Given the description of an element on the screen output the (x, y) to click on. 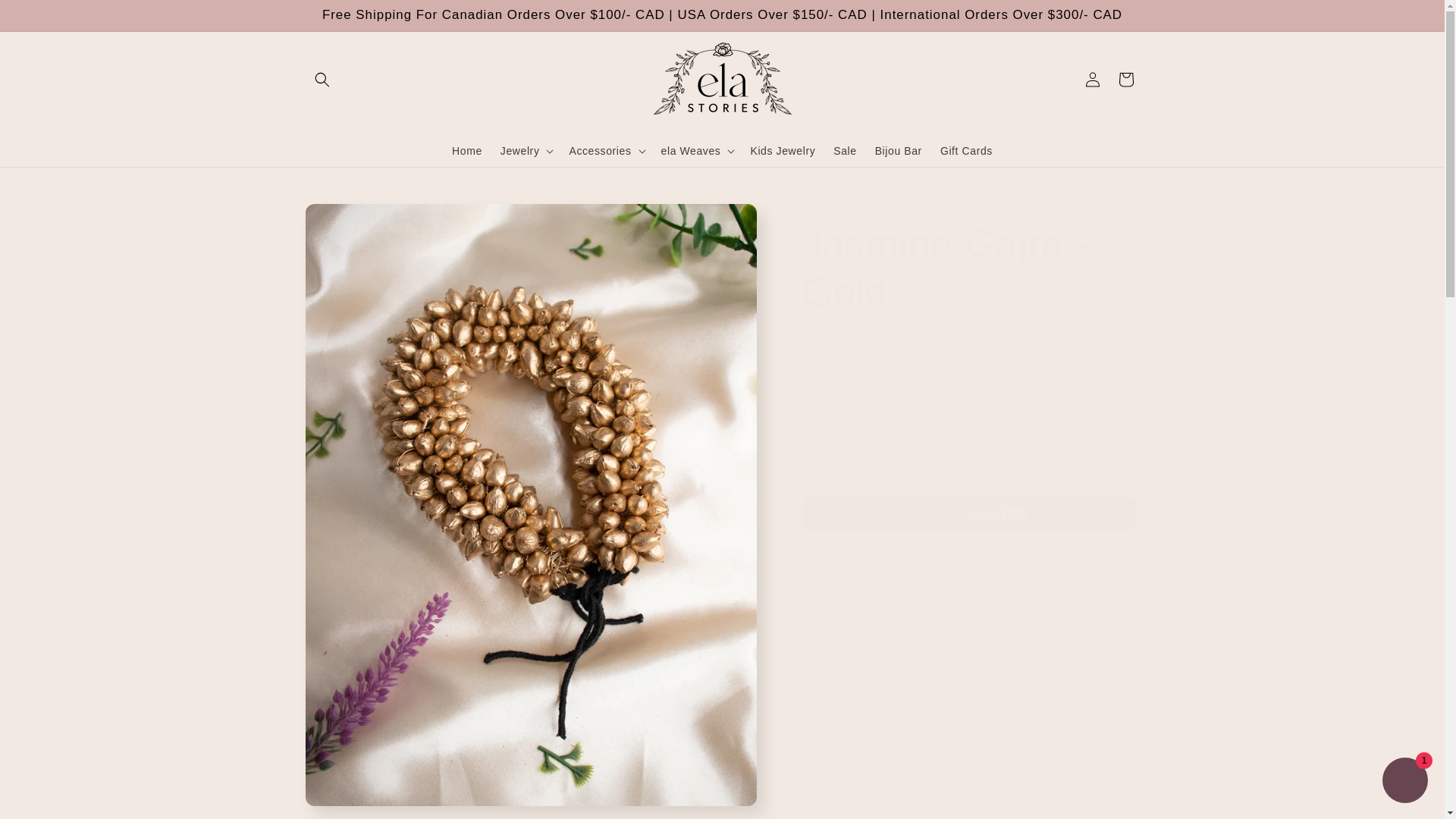
Shopify online store chat (1404, 781)
1 (856, 416)
Skip to content (45, 17)
